Given the description of an element on the screen output the (x, y) to click on. 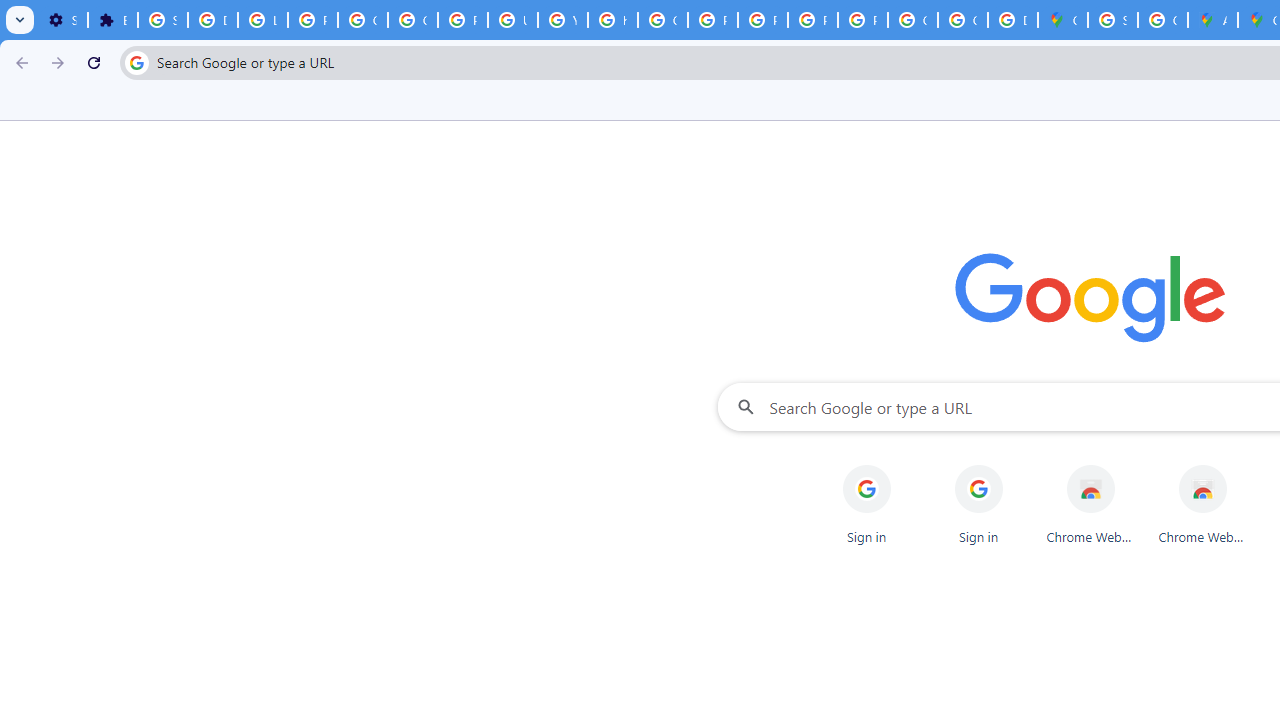
Remove (1241, 466)
Settings - On startup (62, 20)
Google Account Help (362, 20)
Chrome Web Store (1202, 504)
Google Maps (1062, 20)
Privacy Help Center - Policies Help (712, 20)
Create your Google Account (1162, 20)
